Given the description of an element on the screen output the (x, y) to click on. 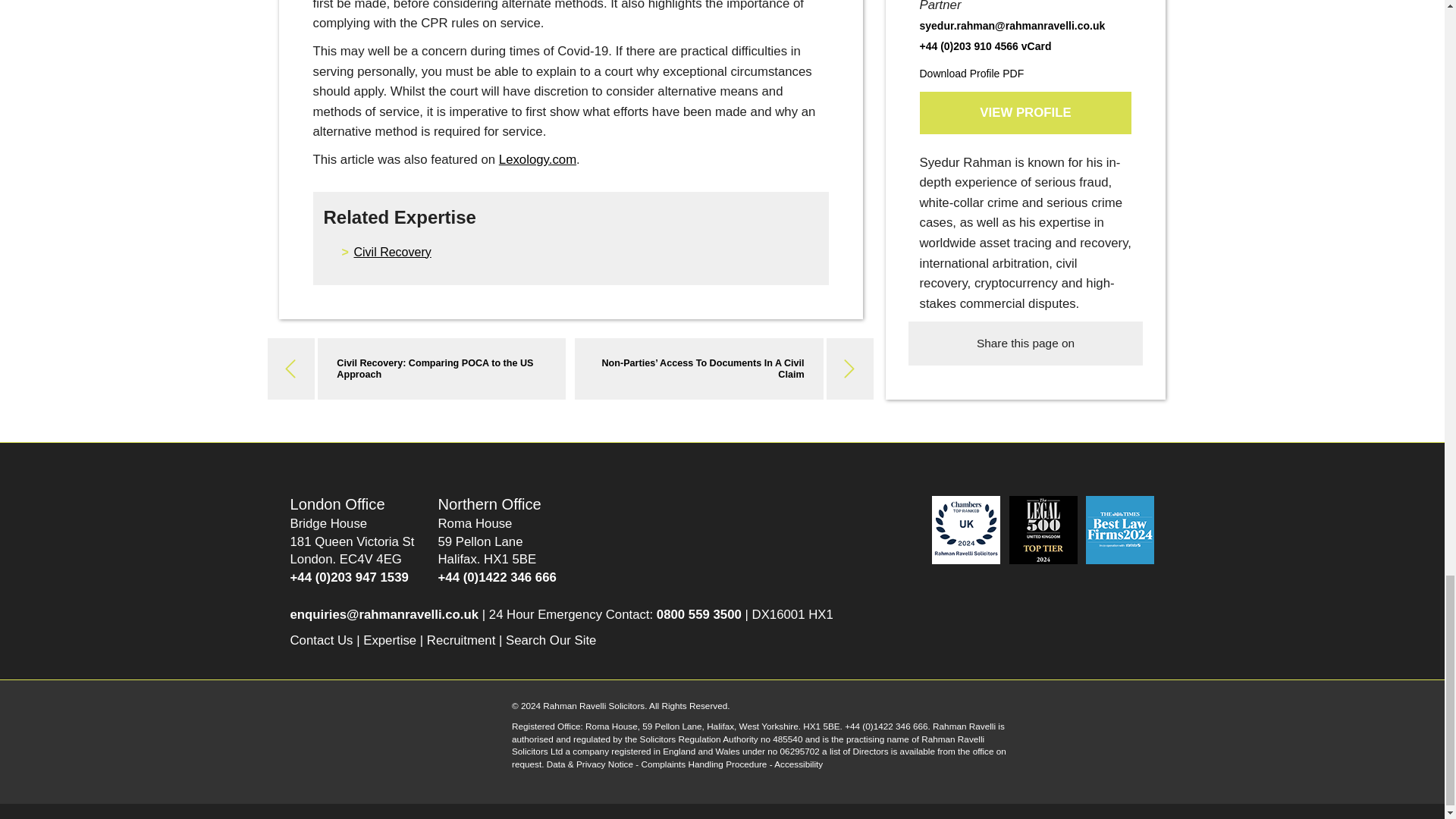
Link to send an email (384, 614)
link to view the Rahman Ravelli profile at Legal500 website (1044, 529)
Link to: Civil Recovery (391, 251)
Link to Expertise (389, 640)
Link to: Civil Recovery: Comparing POCA to the US Approach (434, 368)
